Given the description of an element on the screen output the (x, y) to click on. 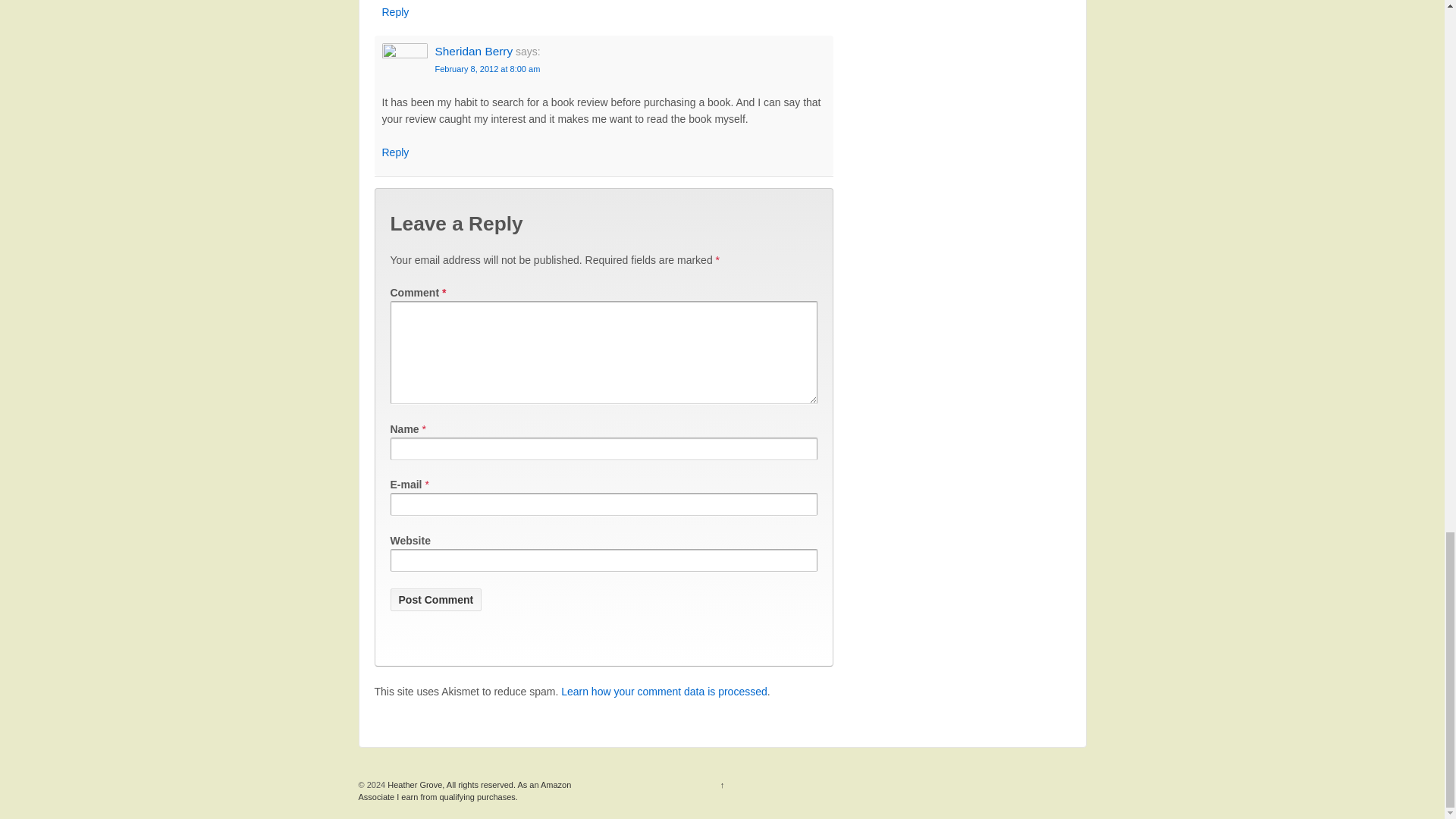
February 8, 2012 at 8:00 am (487, 68)
Post Comment (435, 599)
Reply (395, 152)
Post Comment (435, 599)
Sheridan Berry (474, 51)
Reply (395, 11)
